Given the description of an element on the screen output the (x, y) to click on. 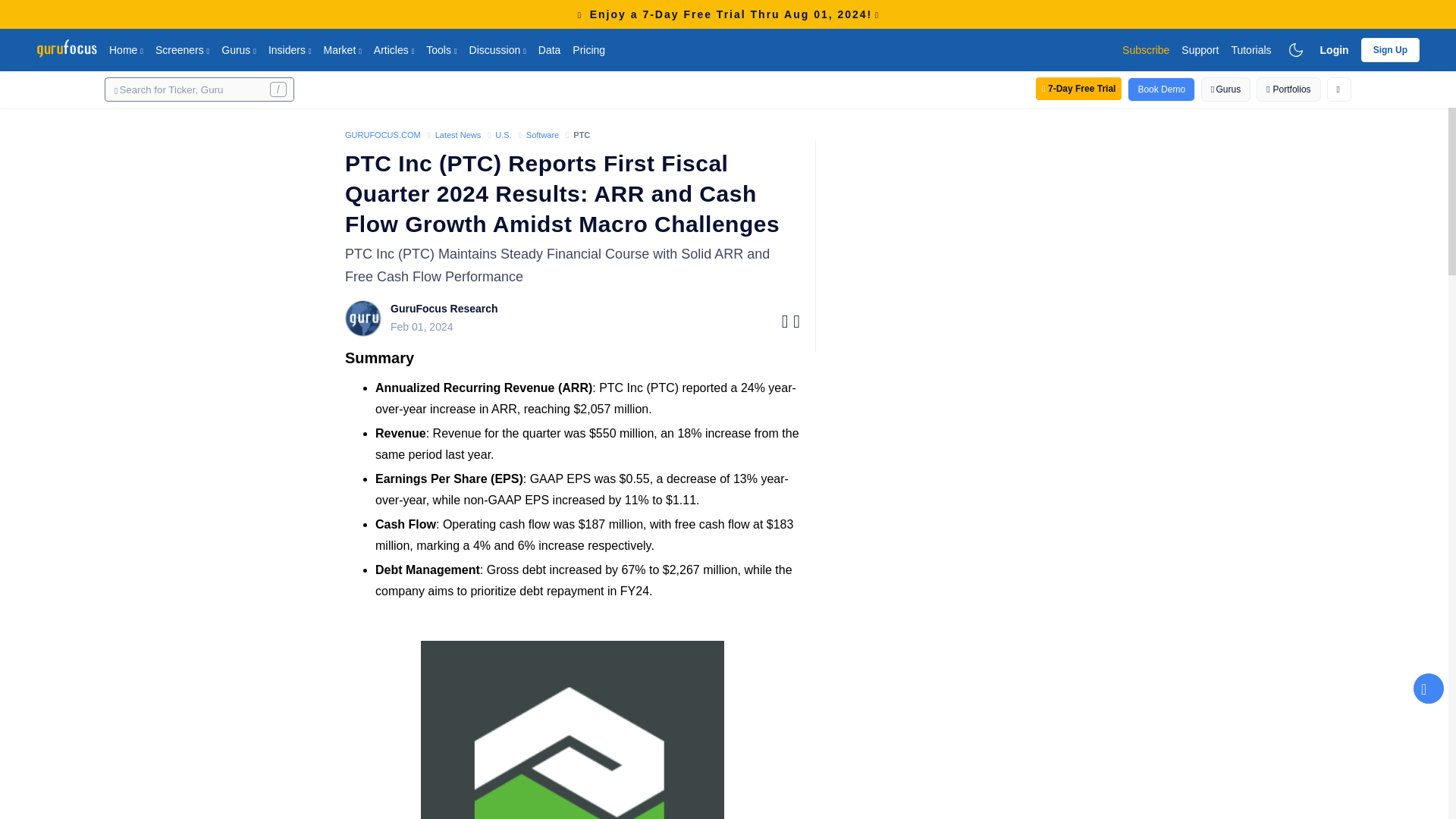
Screeners (182, 49)
Sign Up (1390, 49)
Home (126, 49)
Chat Support (1428, 688)
Login (1334, 49)
Sign Up (1390, 49)
